Given the description of an element on the screen output the (x, y) to click on. 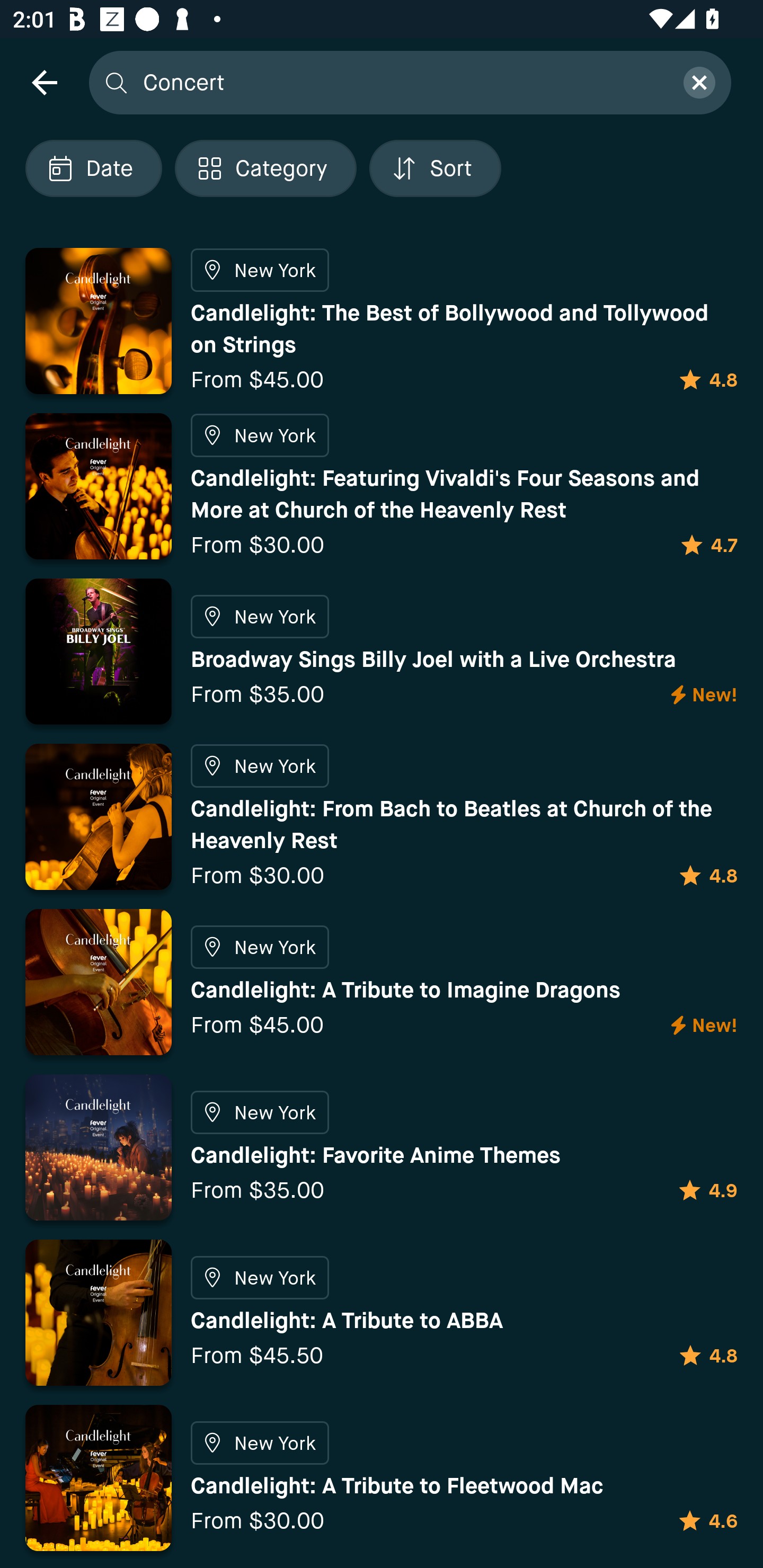
navigation icon (44, 81)
Concert (402, 81)
Localized description Date (93, 168)
Localized description Category (265, 168)
Localized description Sort (435, 168)
